Given the description of an element on the screen output the (x, y) to click on. 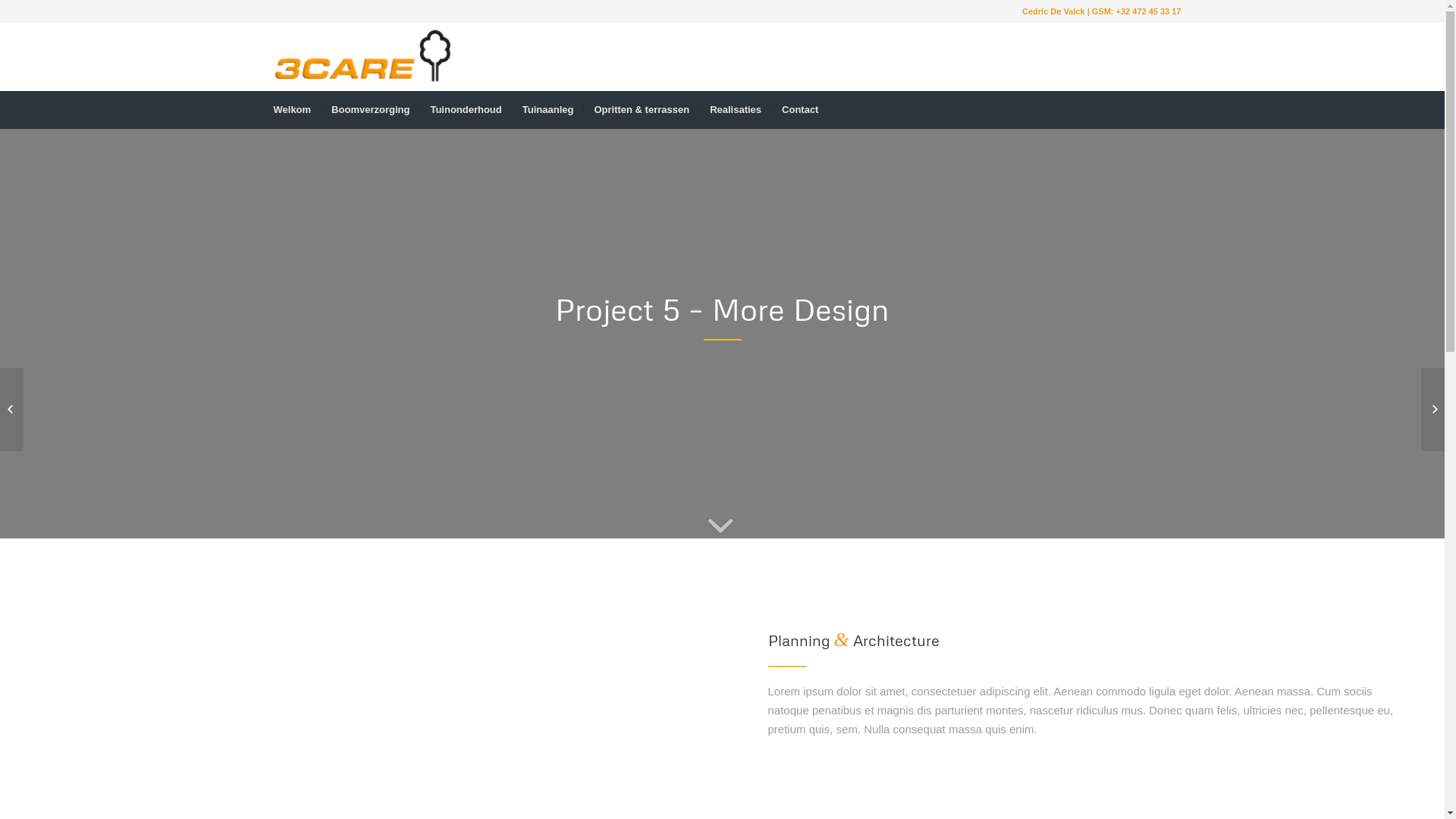
Realisaties Element type: text (735, 109)
Welkom Element type: text (292, 109)
Contact Element type: text (799, 109)
Tuinonderhoud Element type: text (465, 109)
Tuinaanleg Element type: text (547, 109)
Boomverzorging Element type: text (369, 109)
Opritten & terrassen Element type: text (641, 109)
